Given the description of an element on the screen output the (x, y) to click on. 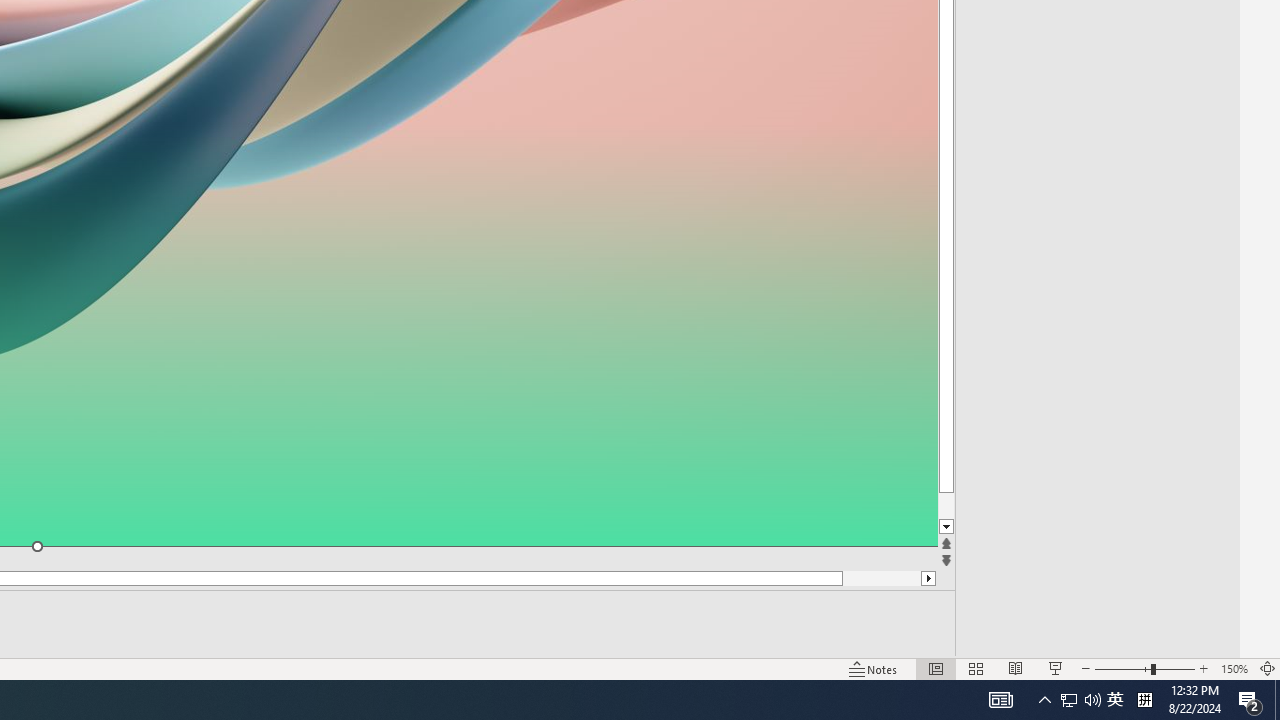
Slide Show (1055, 668)
Zoom to Fit  (1267, 668)
Slide Sorter (975, 668)
Zoom In (1204, 668)
Line down (983, 527)
Normal (936, 668)
Zoom 150% (1234, 668)
Page down (983, 506)
Notes  (874, 668)
Reading View (1015, 668)
Zoom (1144, 668)
Zoom Out (1122, 668)
